Given the description of an element on the screen output the (x, y) to click on. 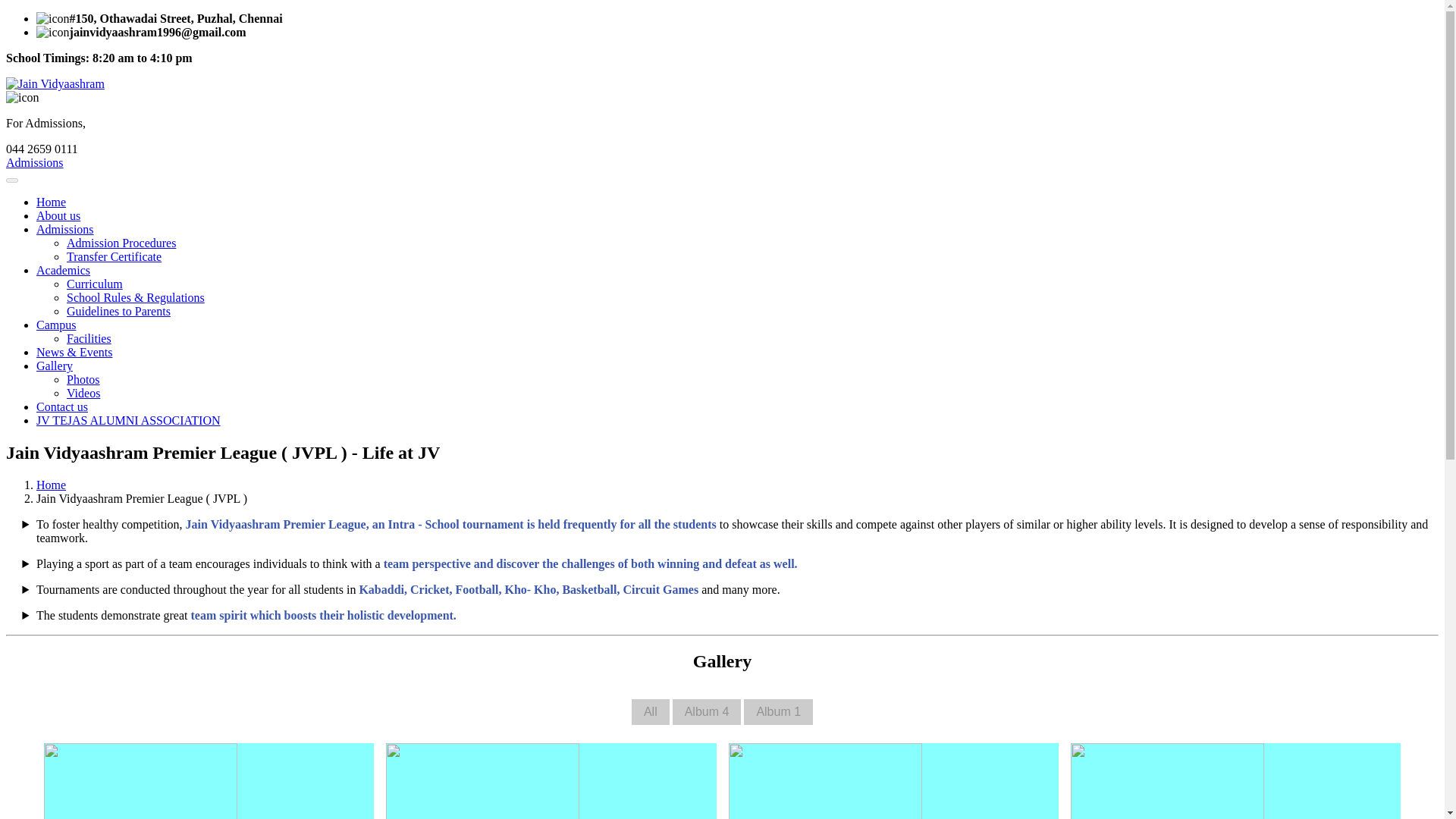
Gallery (54, 365)
Campus (55, 324)
Admissions (65, 228)
JV TEJAS ALUMNI ASSOCIATION (128, 420)
About us (58, 215)
Photos (83, 379)
All (650, 711)
Album 1 (778, 711)
Guidelines to Parents (118, 310)
Album 4 (706, 711)
